Given the description of an element on the screen output the (x, y) to click on. 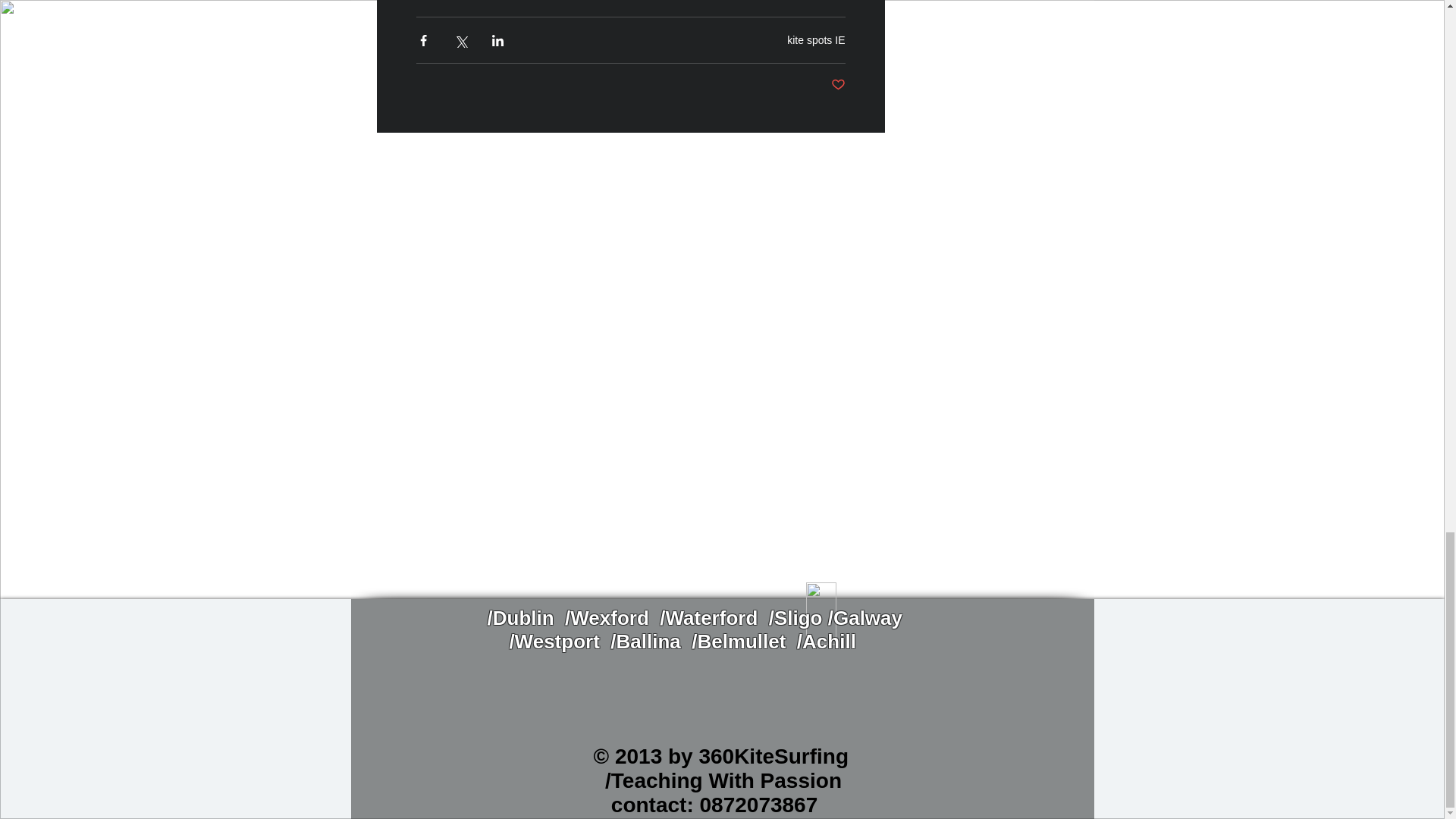
Duncannon, Wexford (990, 57)
Our Lady's Island, Co. Wexford, Ireland (990, 22)
Dungarvan, Co. Waterford, Ireland (990, 112)
